Given the description of an element on the screen output the (x, y) to click on. 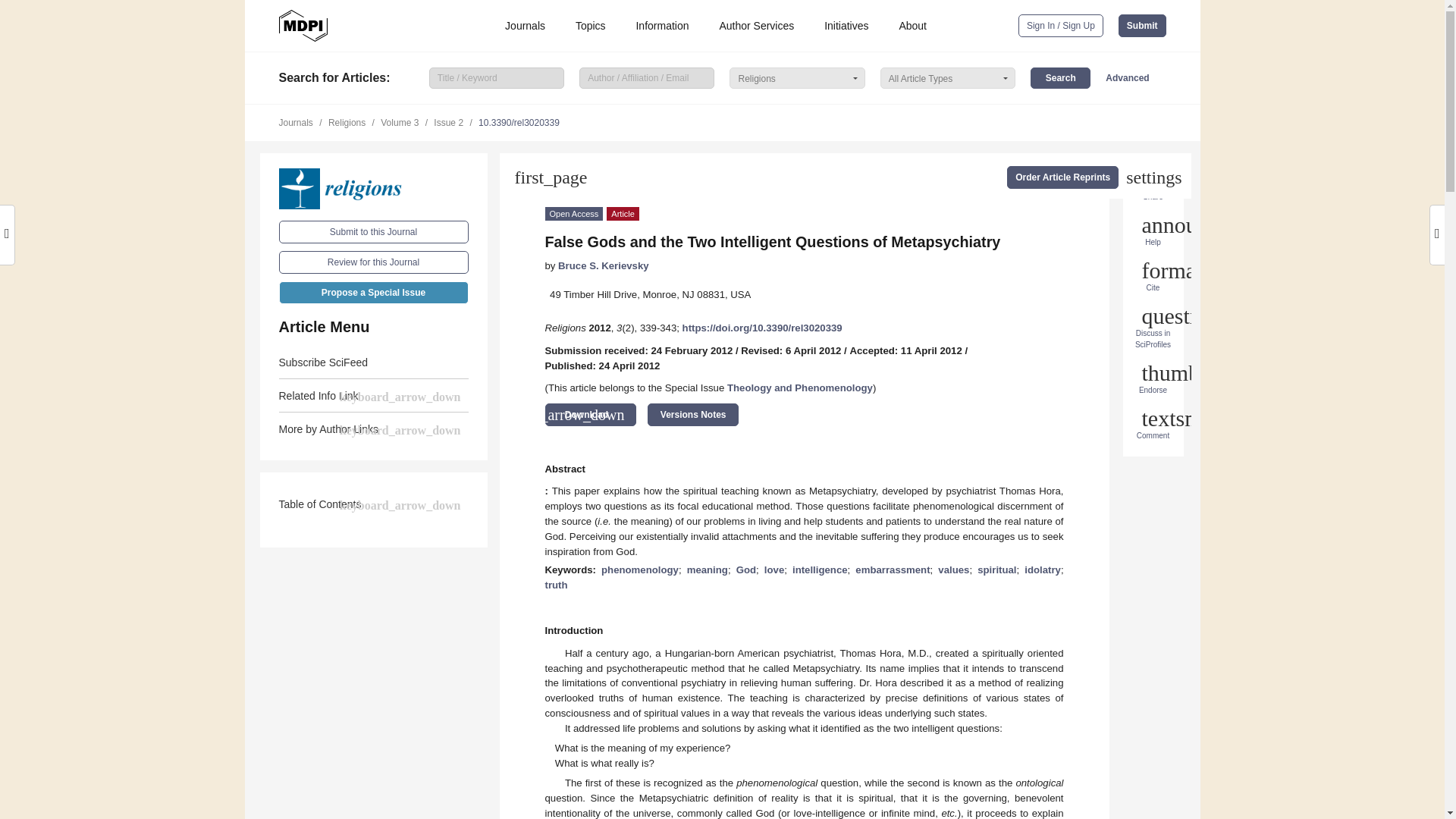
Religions (373, 188)
Search (1060, 77)
Search (1060, 77)
MDPI Open Access Journals (303, 25)
